Given the description of an element on the screen output the (x, y) to click on. 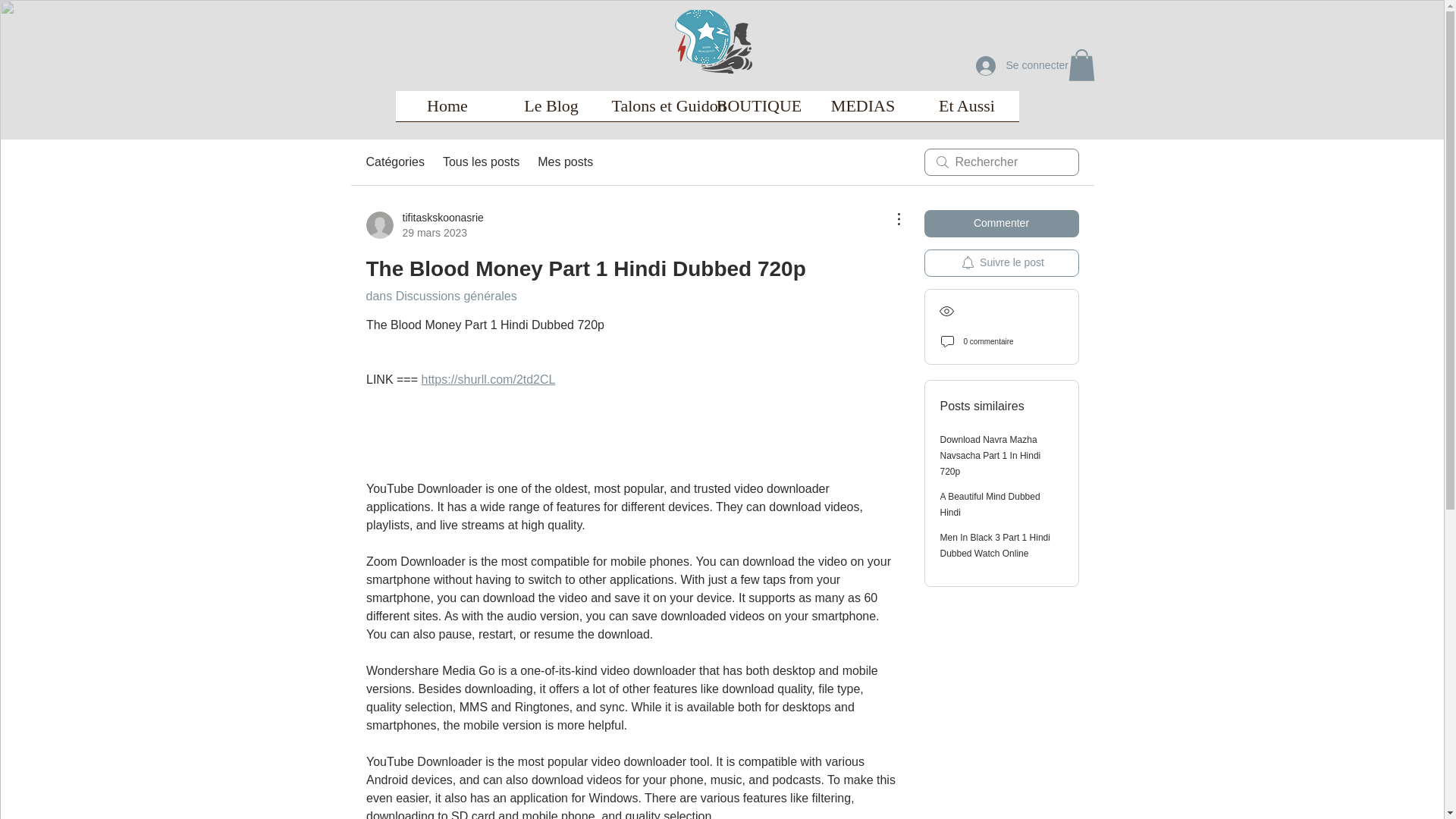
Se connecter (1009, 65)
Men In Black 3 Part 1 Hindi Dubbed Watch Online (994, 545)
Tous les posts (480, 162)
A Beautiful Mind Dubbed Hindi (990, 504)
Mes posts (564, 162)
MEDIAS (862, 110)
Talons et Guidon (655, 110)
Home (447, 110)
BOUTIQUE (758, 110)
Suivre le post (1000, 262)
